Given the description of an element on the screen output the (x, y) to click on. 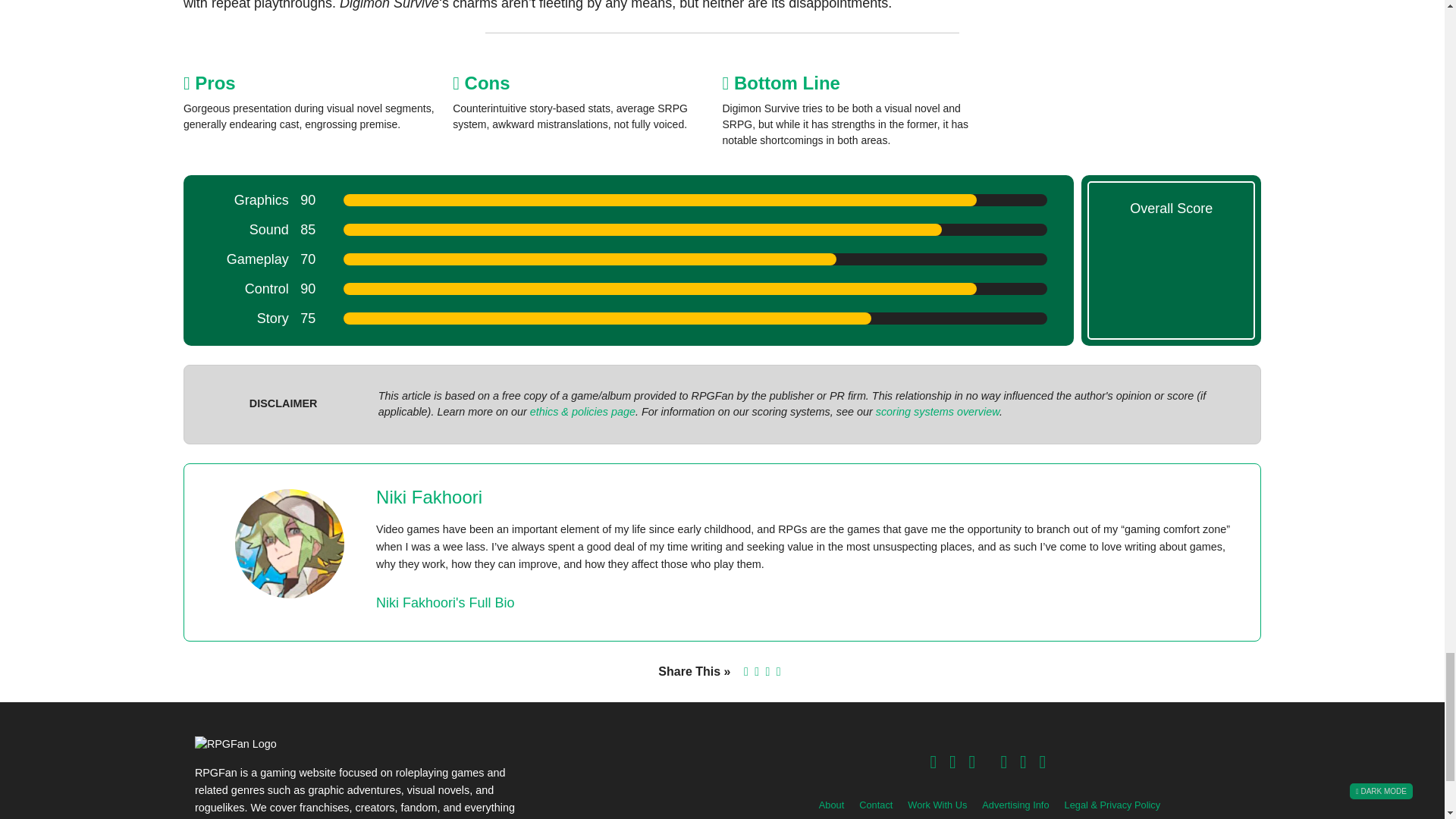
Niki Fakhoori (428, 496)
Niki Fakhoori's Full Bio (445, 602)
scoring systems overview (937, 411)
